Given the description of an element on the screen output the (x, y) to click on. 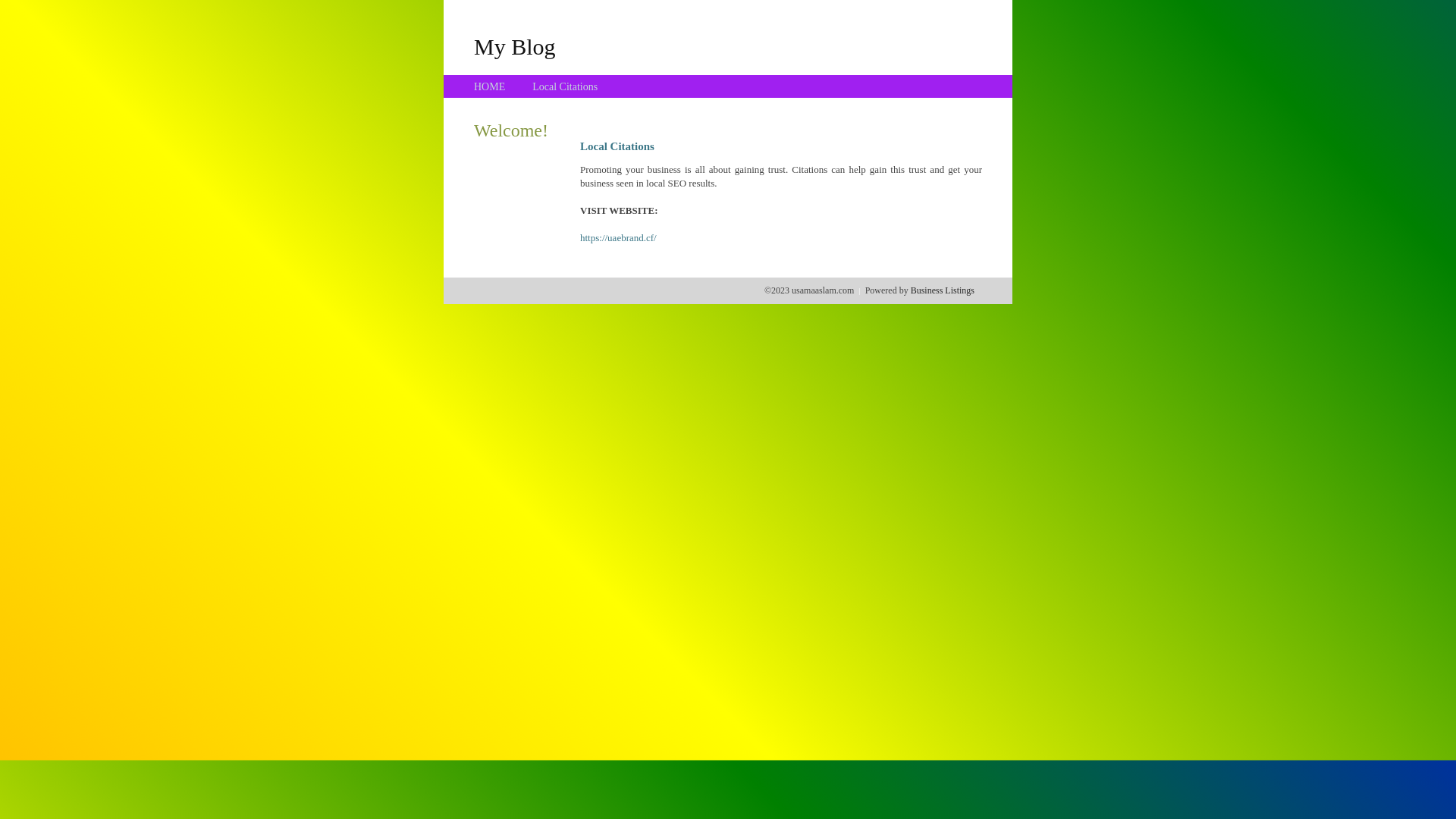
Local Citations Element type: text (564, 86)
My Blog Element type: text (514, 46)
https://uaebrand.cf/ Element type: text (618, 237)
HOME Element type: text (489, 86)
Business Listings Element type: text (942, 290)
